Given the description of an element on the screen output the (x, y) to click on. 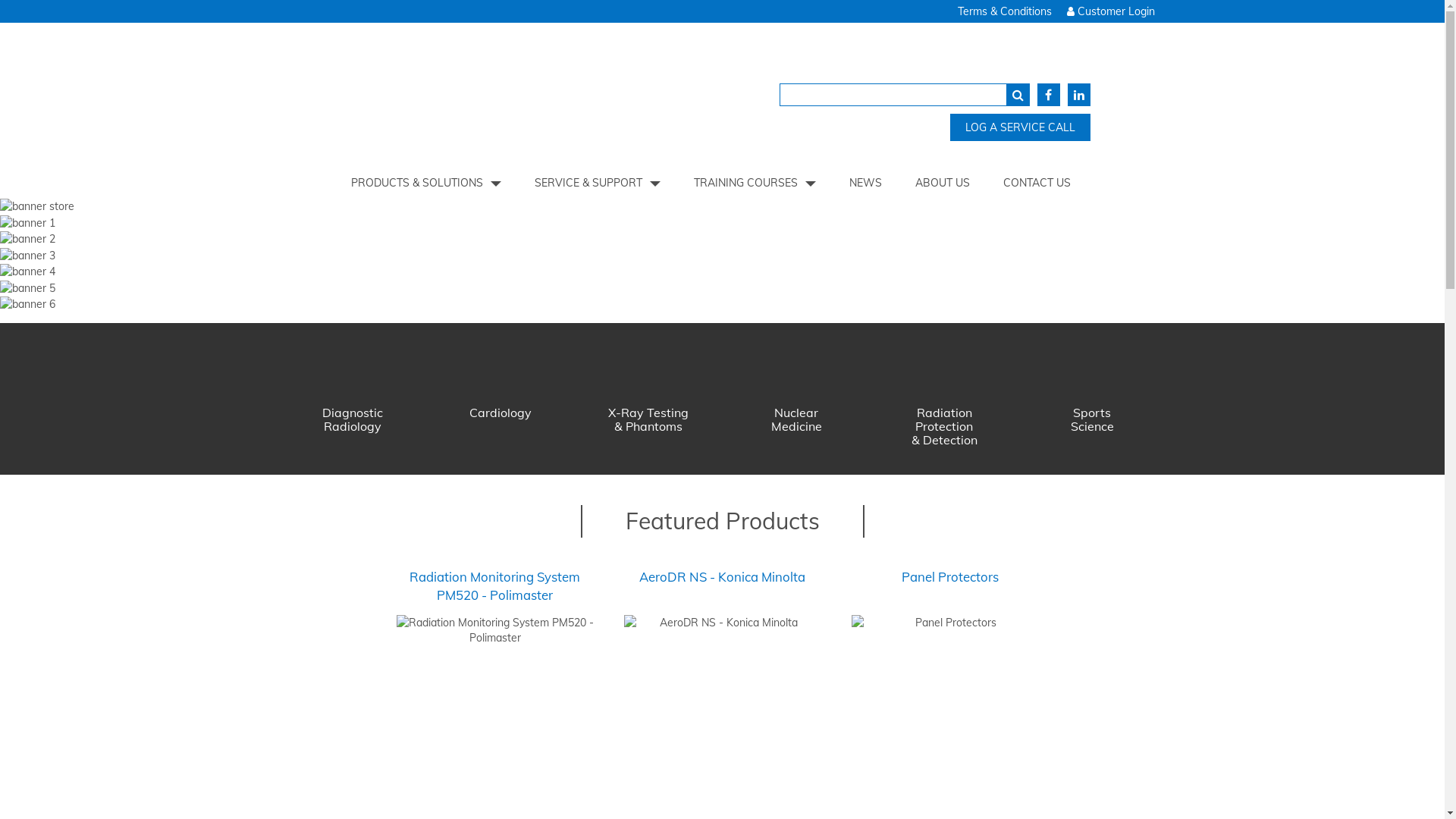
LOG A SERVICE CALL Element type: text (1021, 127)
PRODUCTS & SOLUTIONS Element type: text (426, 182)
SERVICE & SUPPORT Element type: text (597, 182)
ABOUT US Element type: text (942, 182)
TRAINING COURSES Element type: text (754, 182)
NEWS Element type: text (865, 182)
InMed Medical Scientific Solutions Element type: text (513, 94)
Terms & Conditions Element type: text (1004, 11)
CONTACT US Element type: text (1036, 182)
